Given the description of an element on the screen output the (x, y) to click on. 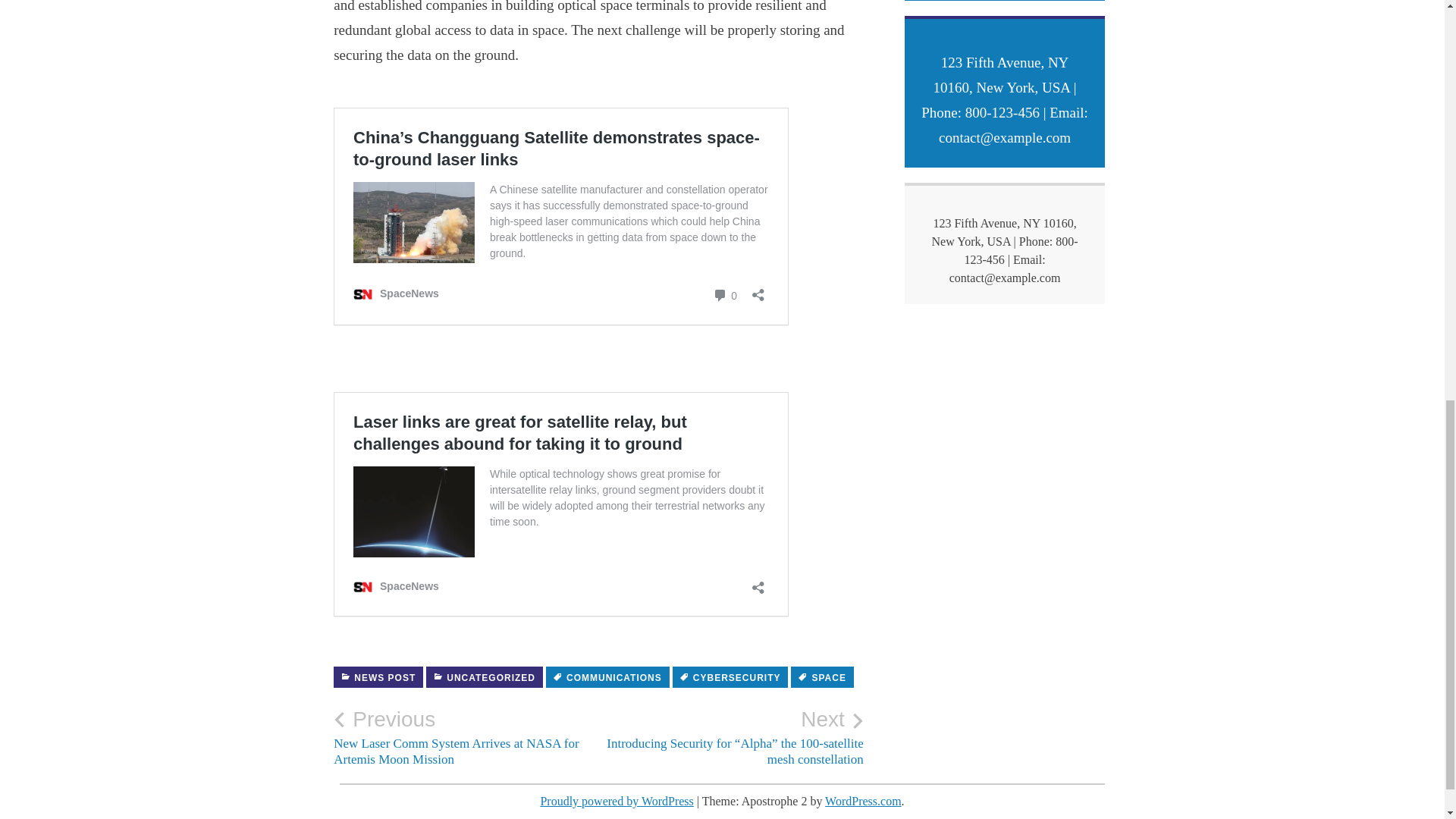
Proudly powered by WordPress (616, 800)
NEWS POST (378, 676)
UNCATEGORIZED (484, 676)
SPACE (821, 676)
CYBERSECURITY (730, 676)
WordPress.com (863, 800)
COMMUNICATIONS (607, 676)
